Given the description of an element on the screen output the (x, y) to click on. 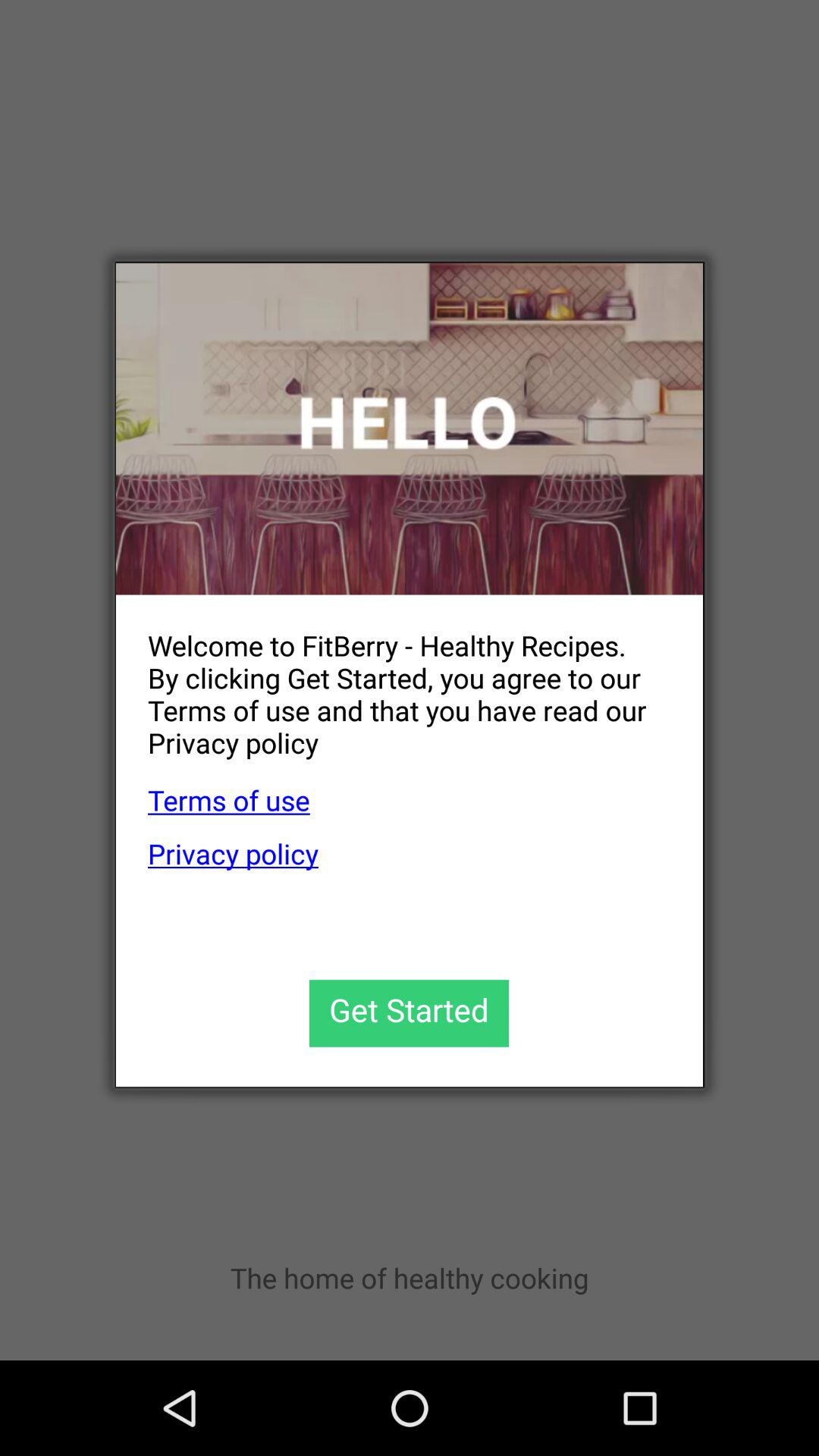
agree to terms of service and start app (409, 1013)
